Given the description of an element on the screen output the (x, y) to click on. 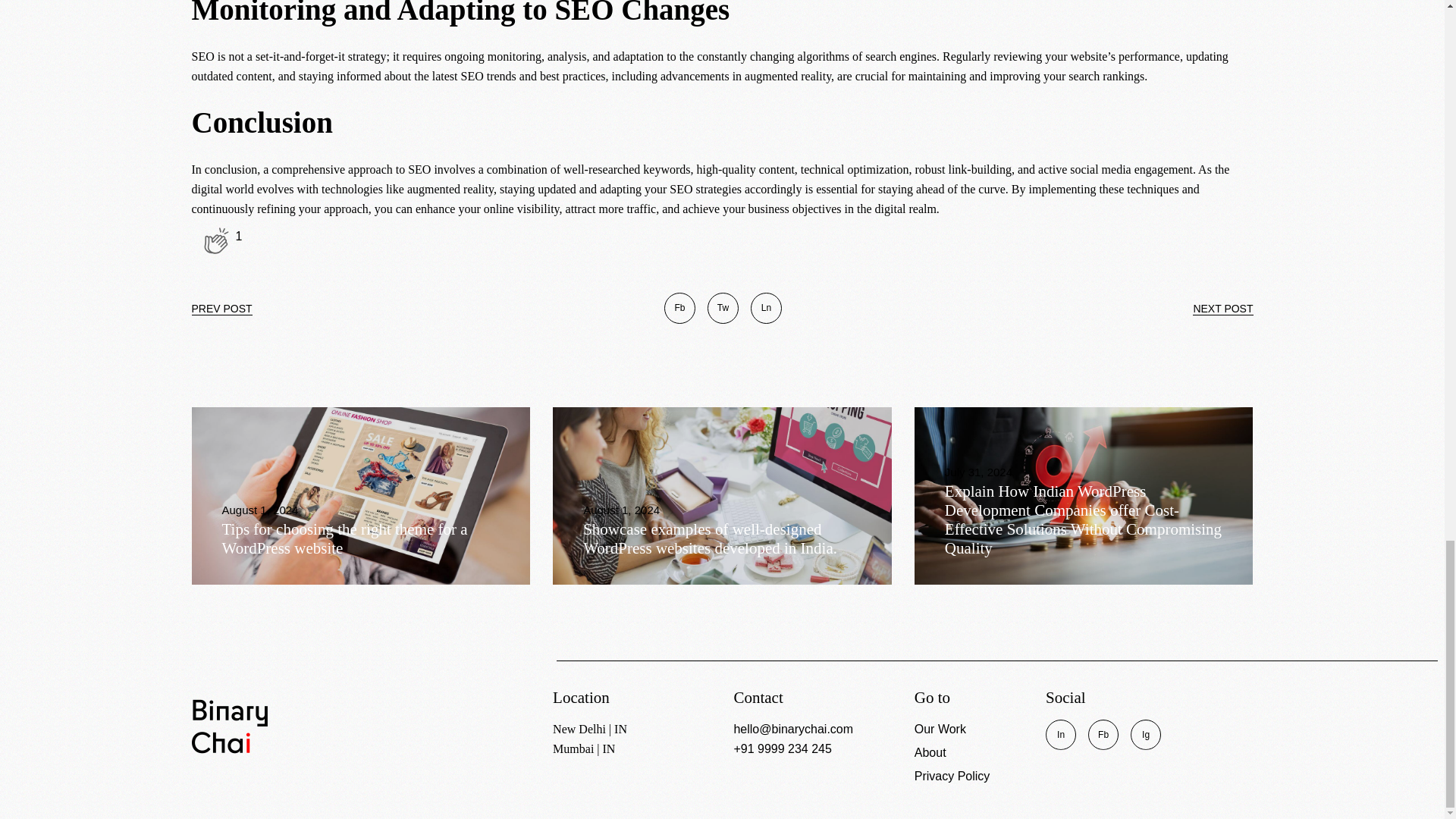
PREV POST (220, 308)
NEXT POST (1222, 308)
1 (215, 240)
August 1, 2024 (259, 509)
July 31, 2024 (977, 472)
August 1, 2024 (621, 509)
Tips for choosing the right theme for a WordPress website (344, 538)
Ln (765, 307)
